Given the description of an element on the screen output the (x, y) to click on. 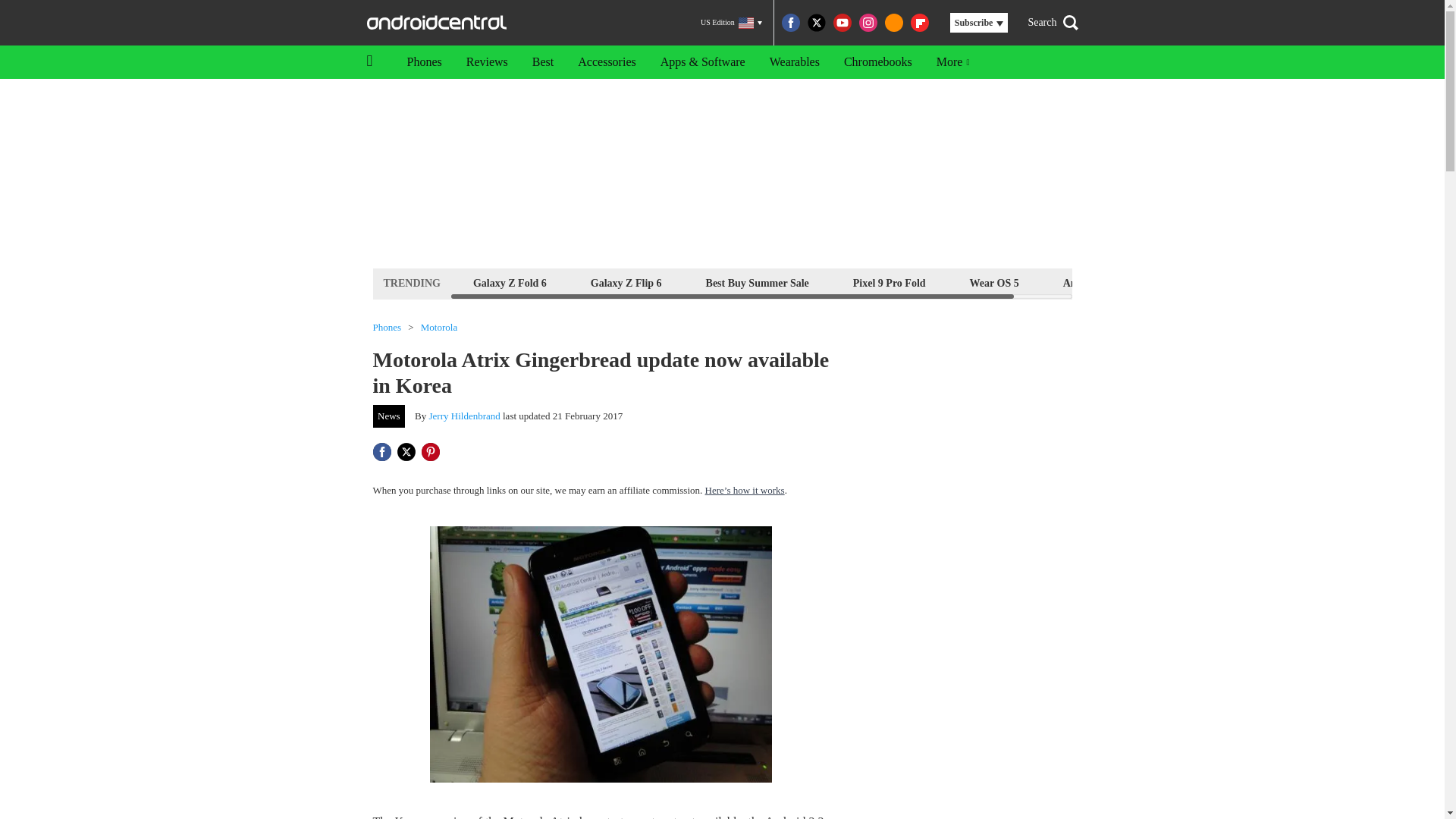
Chromebooks (877, 61)
News (389, 415)
Phones (386, 327)
Galaxy Z Flip 6 (625, 282)
Reviews (486, 61)
Pixel 9 Pro Fold (889, 282)
Motorola (438, 327)
Accessories (606, 61)
US Edition (731, 22)
Phones (423, 61)
Galaxy Z Fold 6 (509, 282)
Best (542, 61)
Best Buy Summer Sale (756, 282)
Jerry Hildenbrand (464, 415)
Wearables (794, 61)
